Given the description of an element on the screen output the (x, y) to click on. 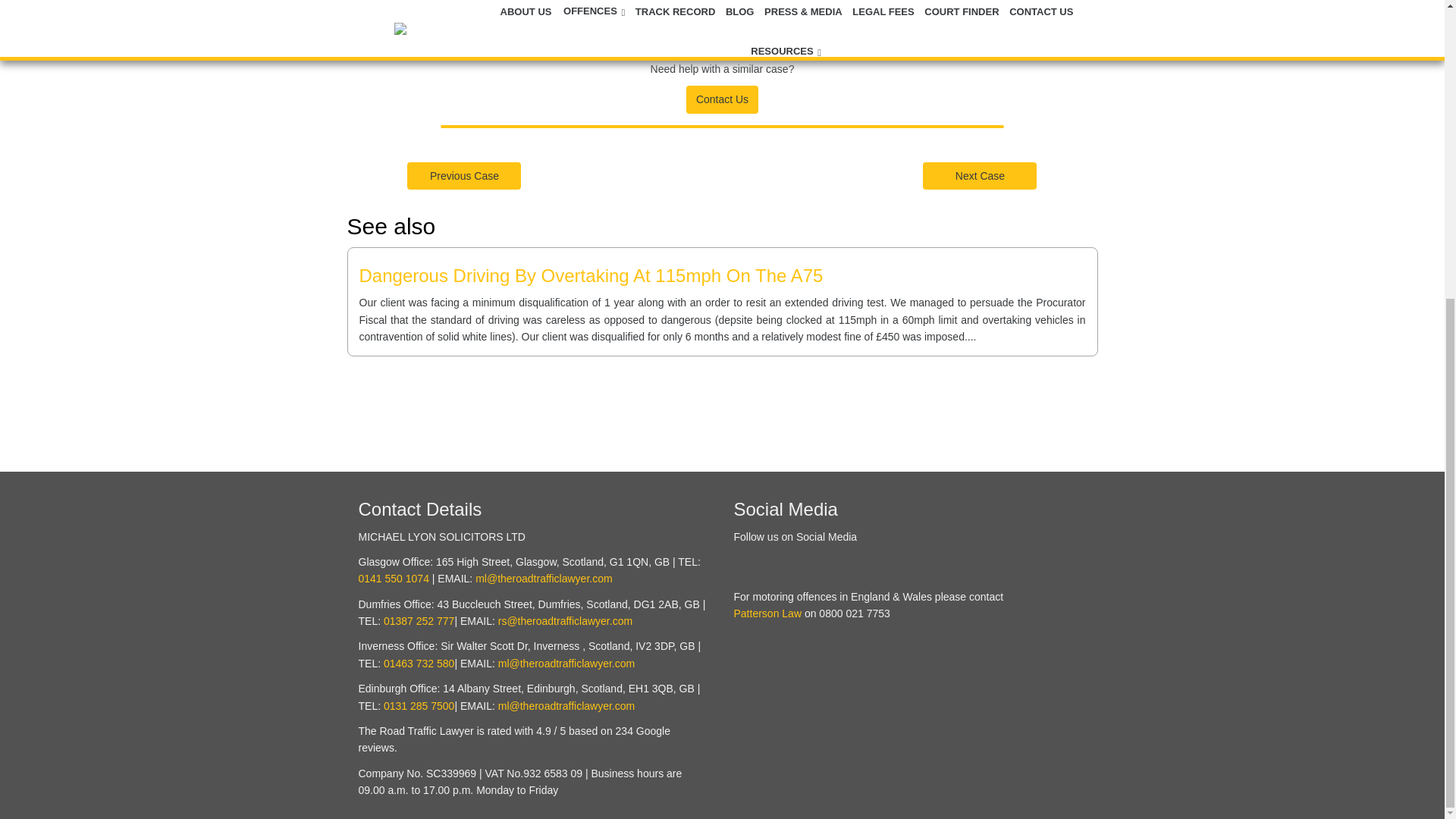
Dangerous Driving By Overtaking At 115mph On The A75 (591, 275)
Contact Us (721, 98)
Previous Case (464, 175)
Next Case (979, 174)
Previous Case (464, 174)
Next Case (979, 175)
